Given the description of an element on the screen output the (x, y) to click on. 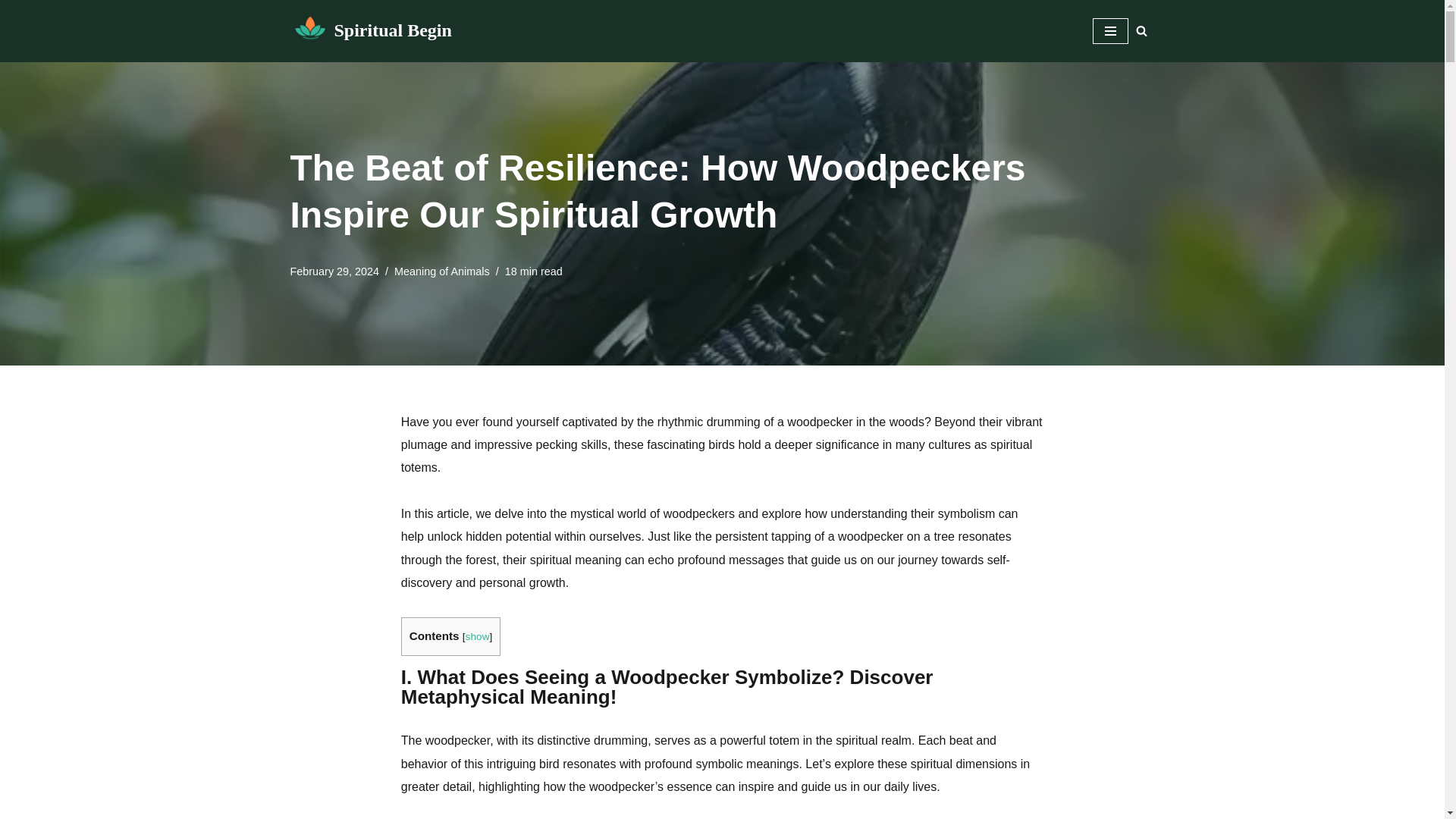
Spiritual Begin (370, 30)
show (477, 636)
Skip to content (11, 31)
Navigation Menu (1109, 31)
Meaning of Animals (441, 271)
